Given the description of an element on the screen output the (x, y) to click on. 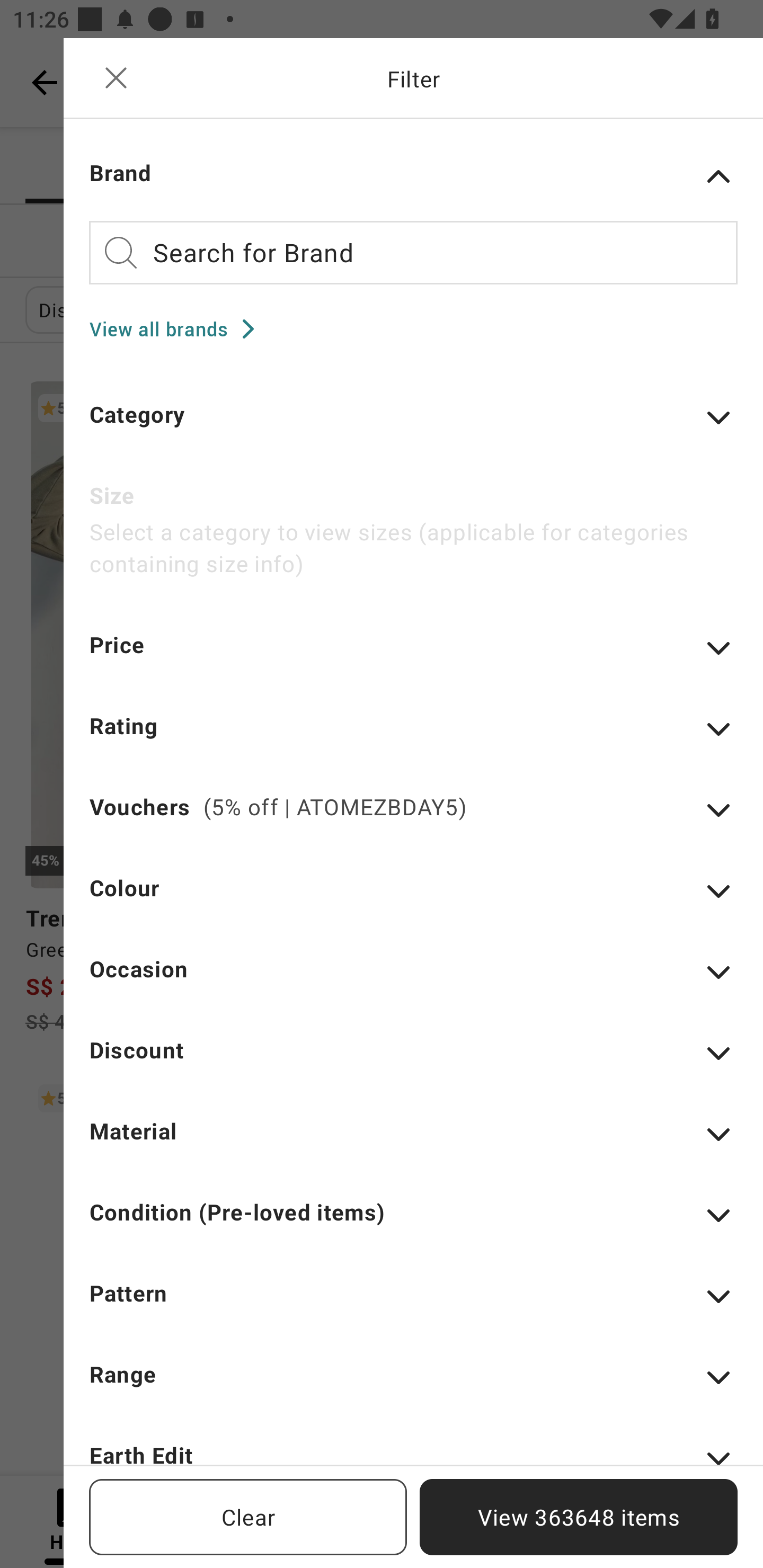
Brand (413, 176)
Search for Brand (413, 252)
View all brands (177, 328)
Category (413, 426)
Price (413, 656)
Rating (413, 738)
Vouchers (5% off | ATOMEZBDAY5) (413, 818)
Colour (413, 899)
Occasion (413, 981)
Discount (413, 1061)
Material (413, 1142)
Condition (Pre-loved items) (413, 1224)
Pattern (413, 1304)
Range (413, 1386)
Earth Edit (413, 1451)
Clear (247, 1516)
View 363648 items (578, 1516)
